Given the description of an element on the screen output the (x, y) to click on. 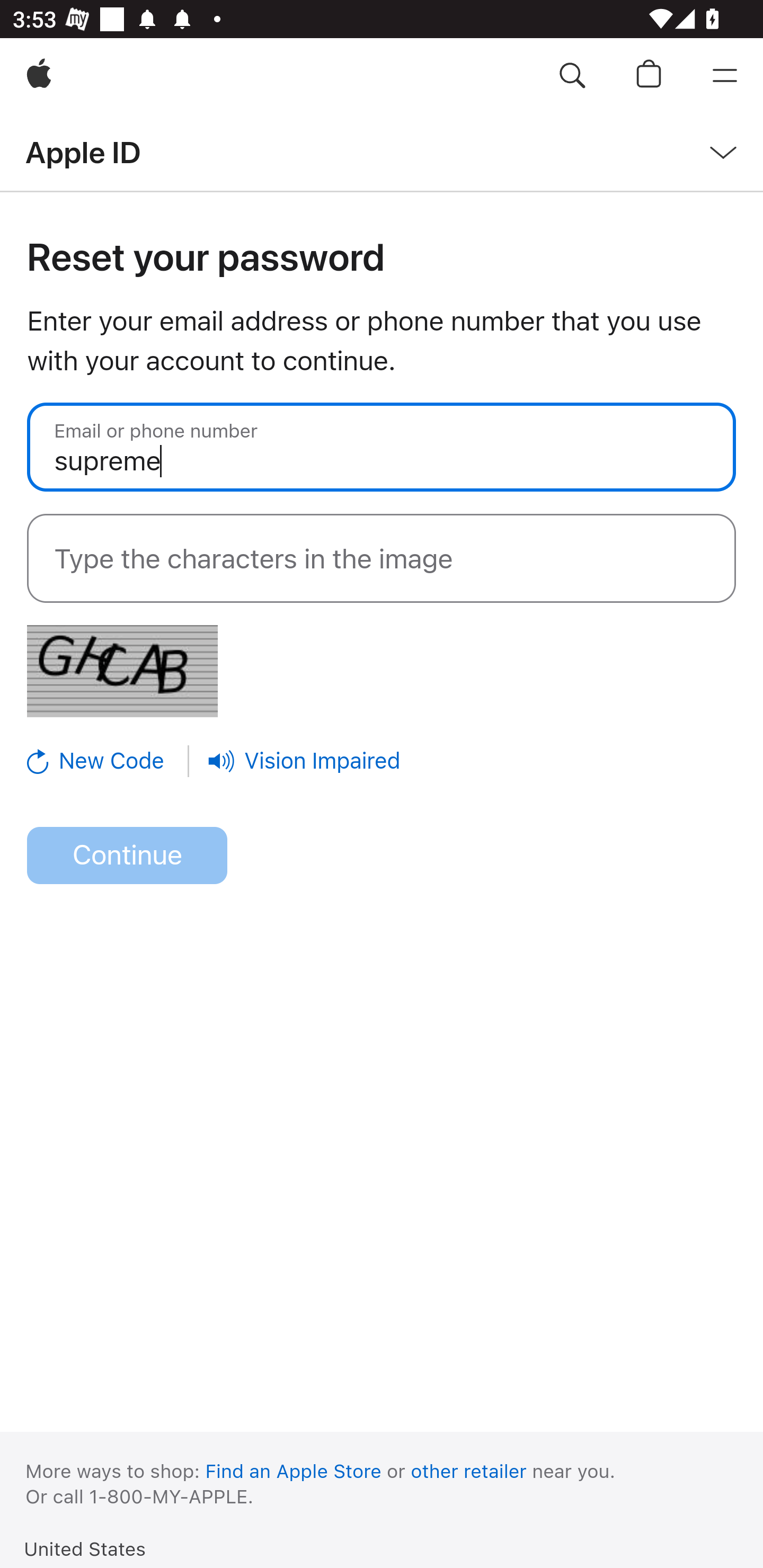
Apple (38, 75)
Search apple.com (572, 75)
Shopping Bag (648, 75)
Menu (724, 75)
Apple ID (83, 151)
supreme (381, 446)
 New Code (108, 760)
 Vision Impaired (304, 760)
Continue (126, 855)
Find an Apple Store (293, 1470)
other retailer (468, 1470)
United States (84, 1548)
